Given the description of an element on the screen output the (x, y) to click on. 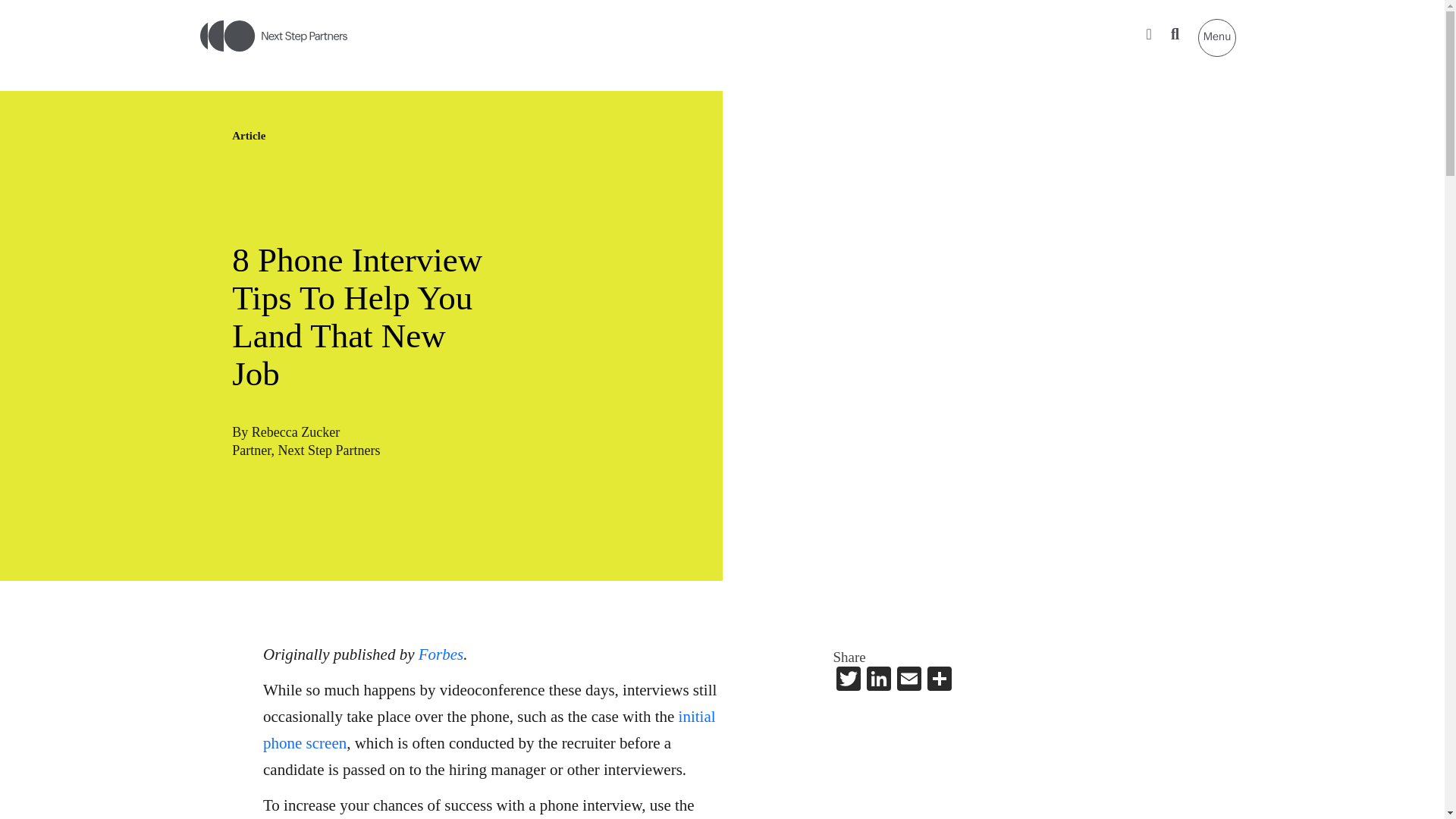
Email (908, 680)
Twitter (847, 680)
Twitter (847, 680)
Email (908, 680)
Menu (1217, 37)
LinkedIn (878, 680)
initial phone screen (489, 729)
LinkedIn (878, 680)
Forbes (441, 654)
